Given the description of an element on the screen output the (x, y) to click on. 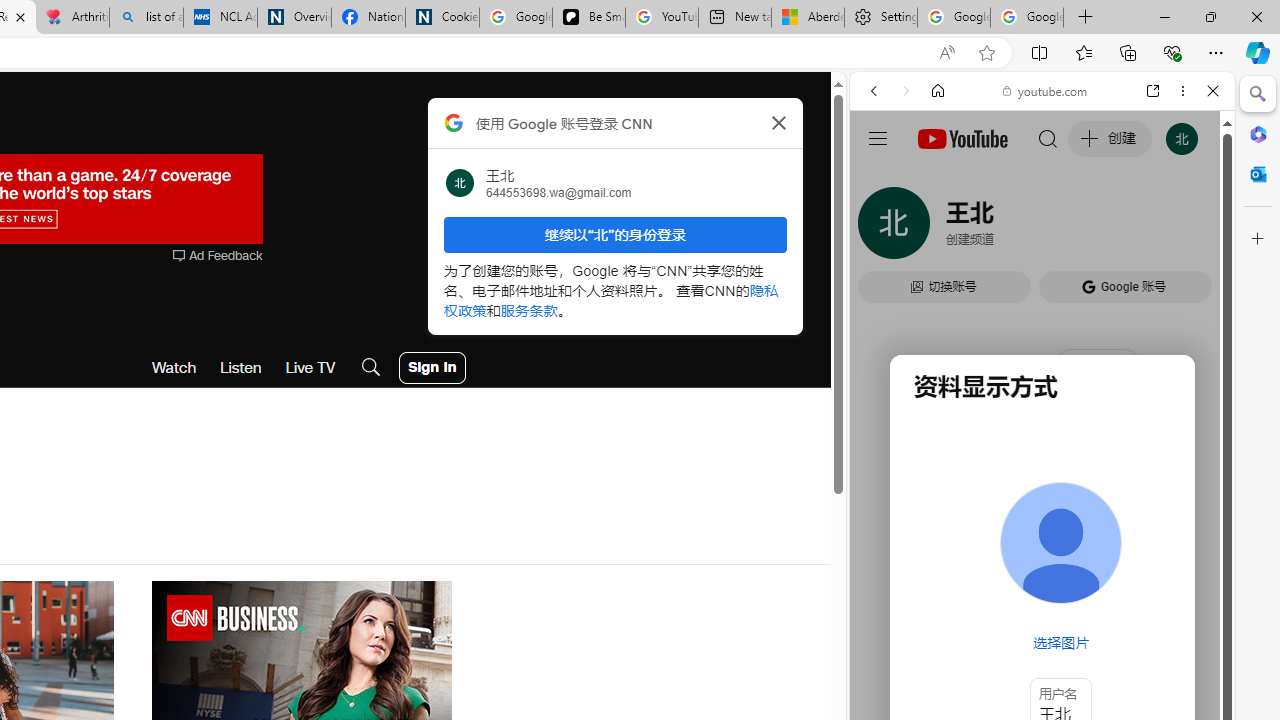
Search videos from youtube.com (1005, 657)
Preferences (1189, 228)
Search Icon (371, 367)
Search Filter, Search Tools (1093, 228)
#you (1042, 445)
